Given the description of an element on the screen output the (x, y) to click on. 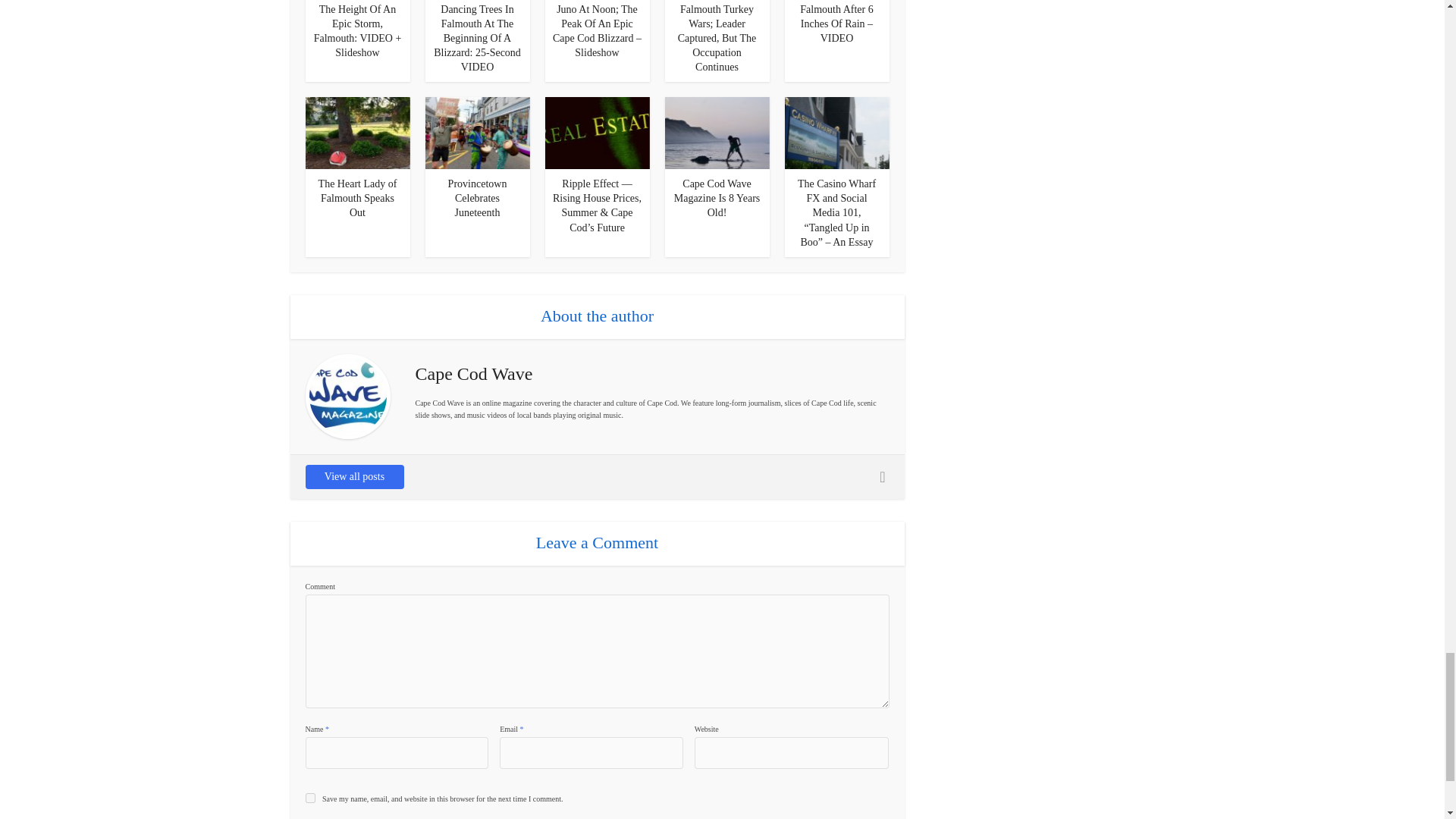
yes (309, 798)
